Given the description of an element on the screen output the (x, y) to click on. 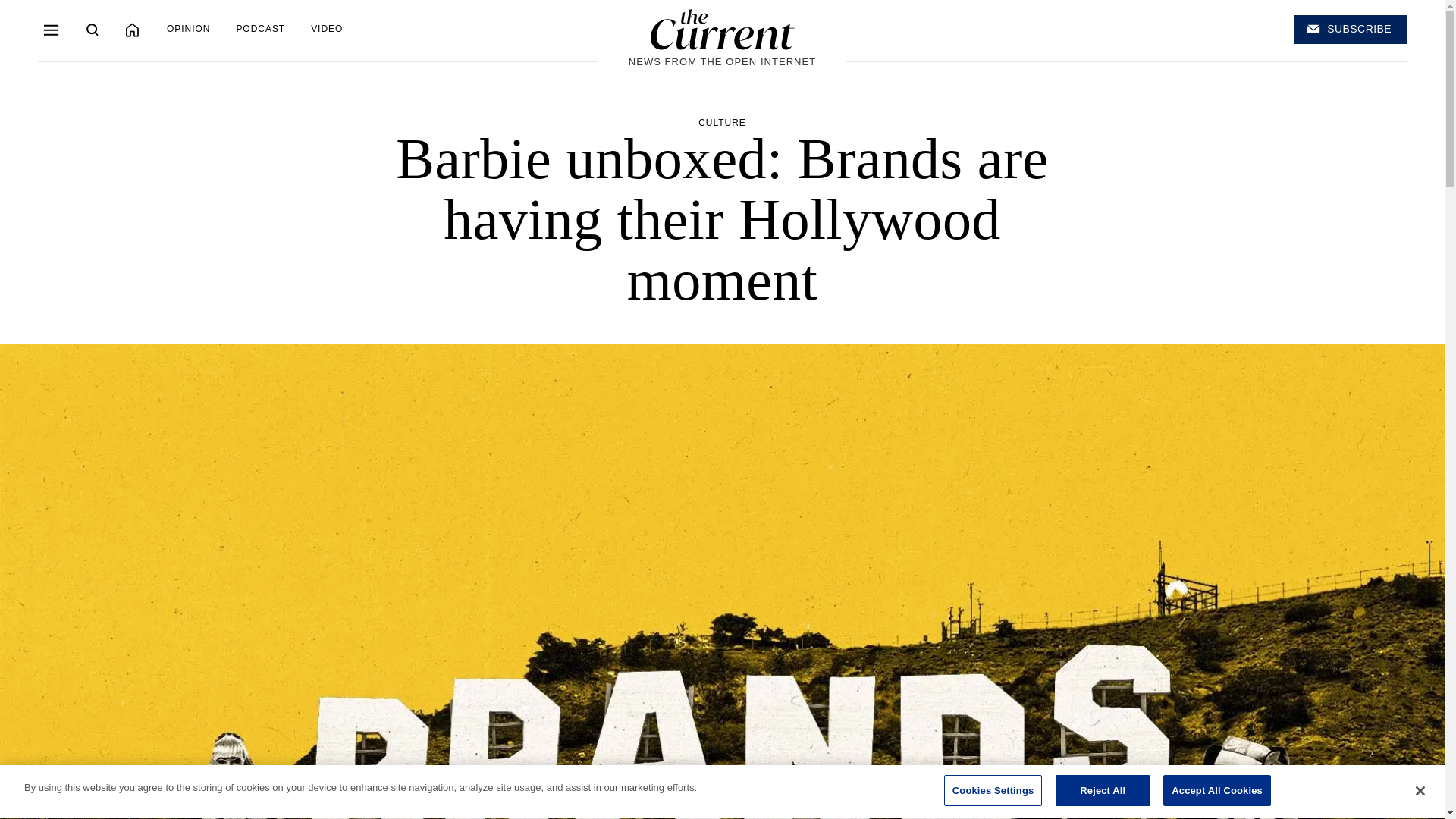
Open Search Dropdown (92, 29)
Open subnavigation (51, 29)
OPINION (188, 29)
PODCAST (259, 29)
SUBSCRIBE (1350, 29)
CULTURE (721, 122)
Link to home page (131, 29)
Link to home (722, 29)
VIDEO (326, 29)
